Given the description of an element on the screen output the (x, y) to click on. 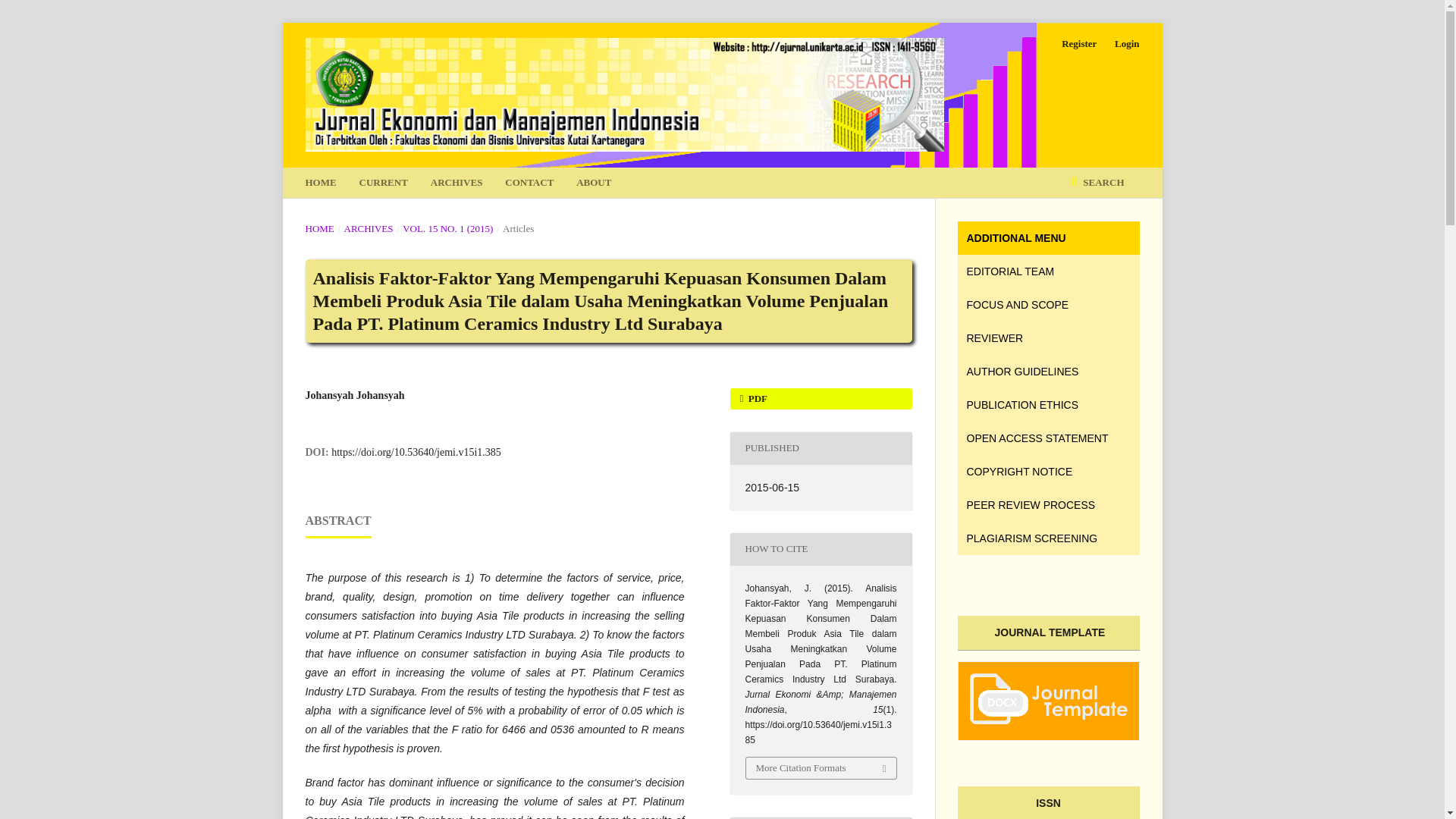
CONTACT (529, 182)
COPYRIGHT NOTICE (1047, 471)
AUTHOR GUIDELINES (1047, 371)
ARCHIVES (368, 228)
Register (1078, 43)
OPEN ACCESS STATEMENT (1047, 438)
REVIEWER (1047, 337)
HOME (320, 182)
SEARCH (1096, 182)
CURRENT (383, 182)
PLAGIARISM SCREENING (1047, 538)
Fokus And Scope (1047, 304)
ARCHIVES (456, 182)
Tamplate Jurnal JEMI UNIKARTA (1047, 719)
HOME (318, 228)
